Given the description of an element on the screen output the (x, y) to click on. 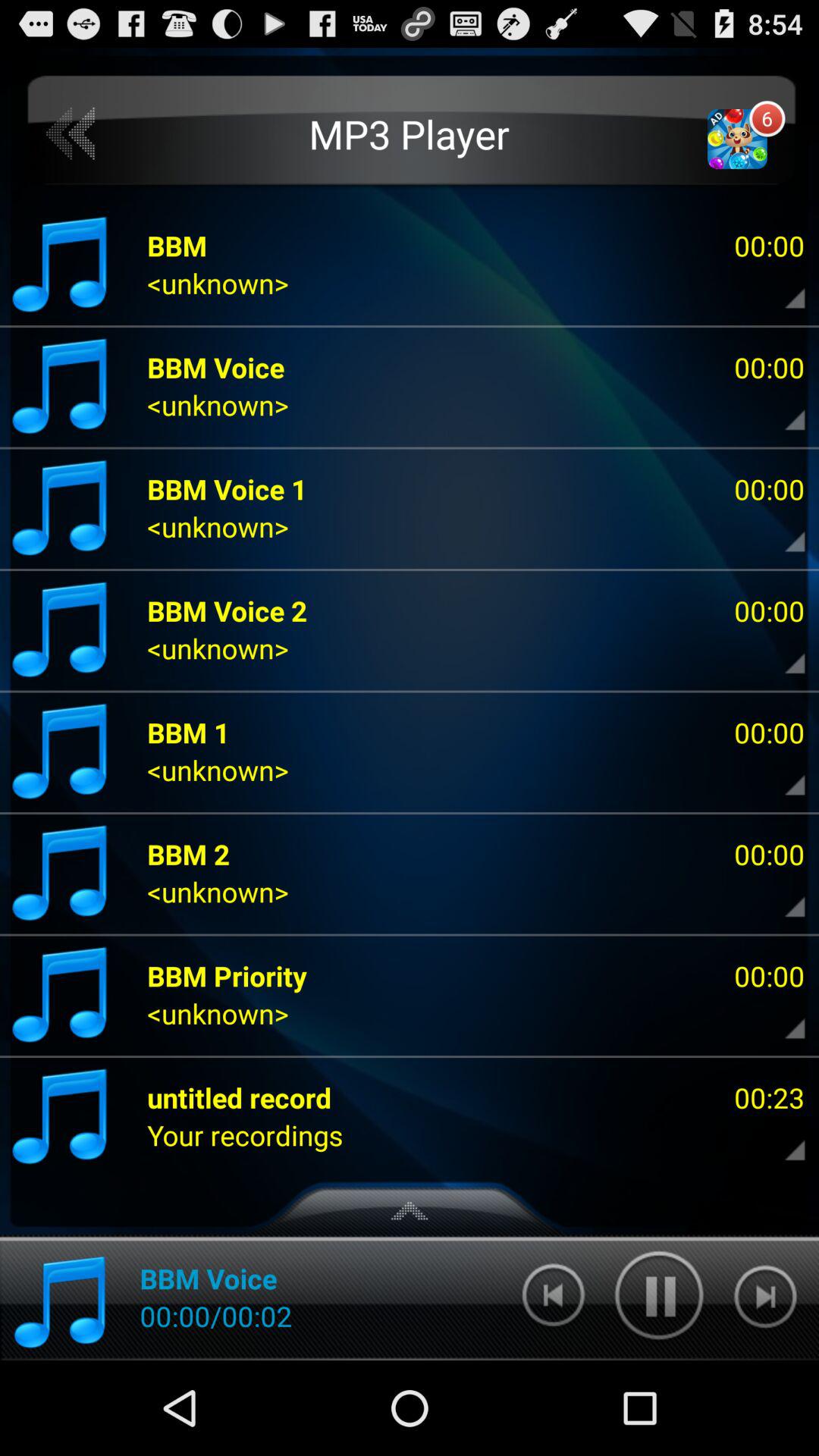
scroll to the bbm priority (227, 975)
